Given the description of an element on the screen output the (x, y) to click on. 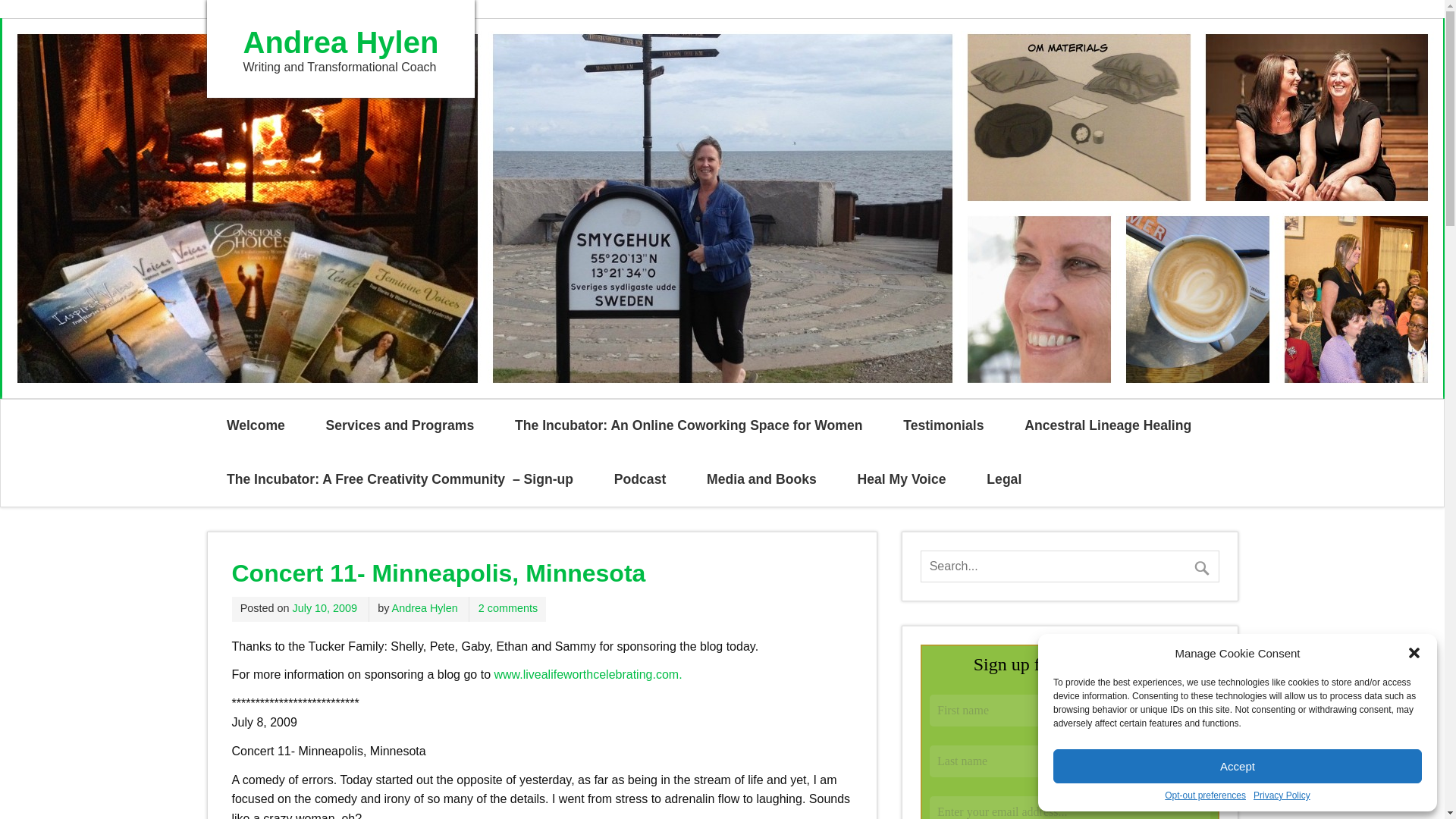
Ancestral Lineage Healing (1107, 425)
Andrea Hylen (424, 607)
Heal My Voice (901, 479)
Podcast (639, 479)
www.livealifeworthcelebrating.com. (587, 674)
Welcome (255, 425)
2:17 pm (325, 607)
The Incubator: An Online Coworking Space for Women (688, 425)
Services and Programs (399, 425)
Opt-out preferences (1205, 795)
Andrea Hylen (340, 42)
July 10, 2009 (325, 607)
Legal (1004, 479)
Andrea Hylen (340, 42)
View all posts by Andrea Hylen (424, 607)
